Given the description of an element on the screen output the (x, y) to click on. 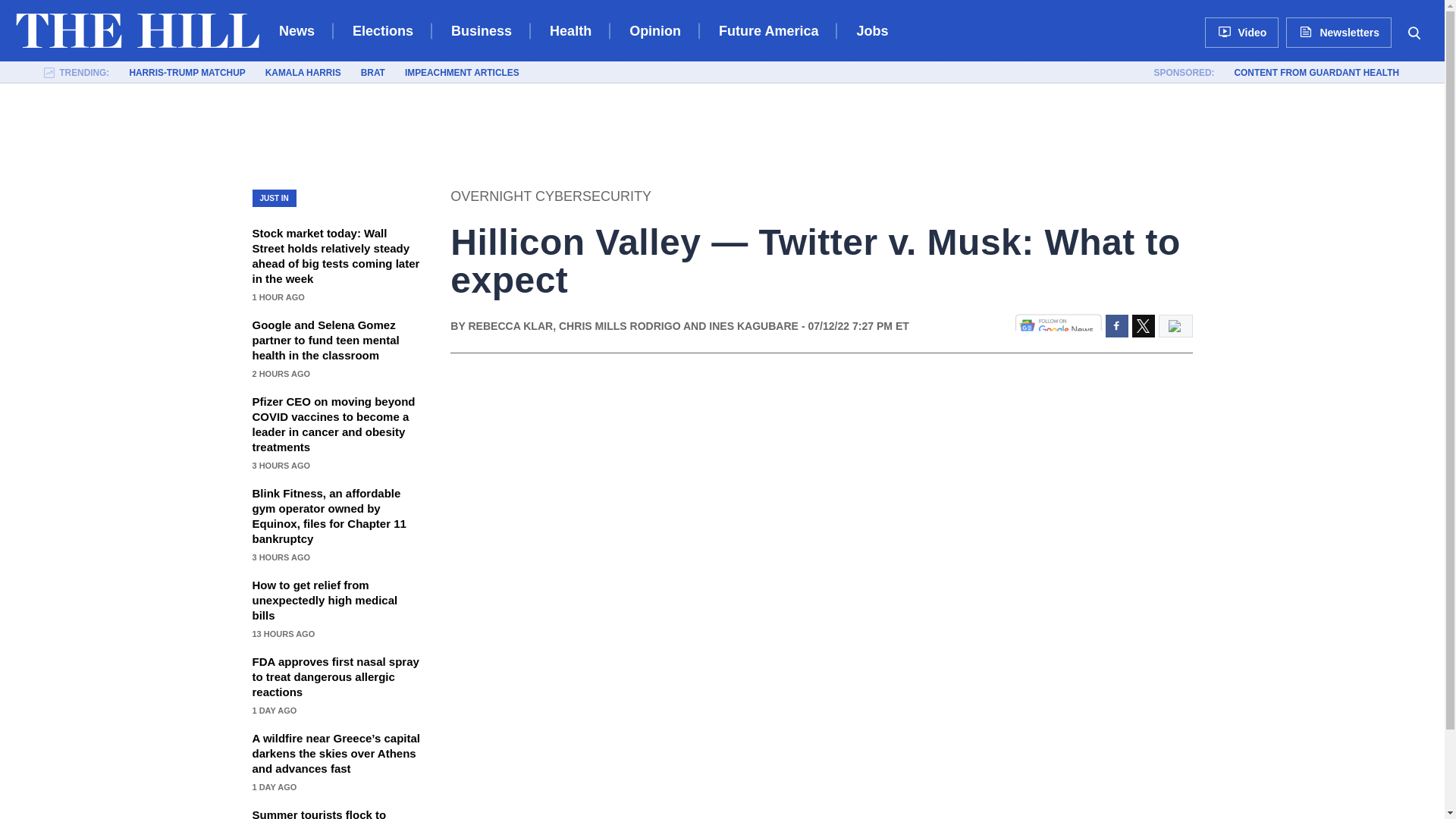
Elections (382, 30)
Search (1414, 31)
Overnight Cybersecurity (549, 196)
News (296, 30)
Business (481, 30)
